Given the description of an element on the screen output the (x, y) to click on. 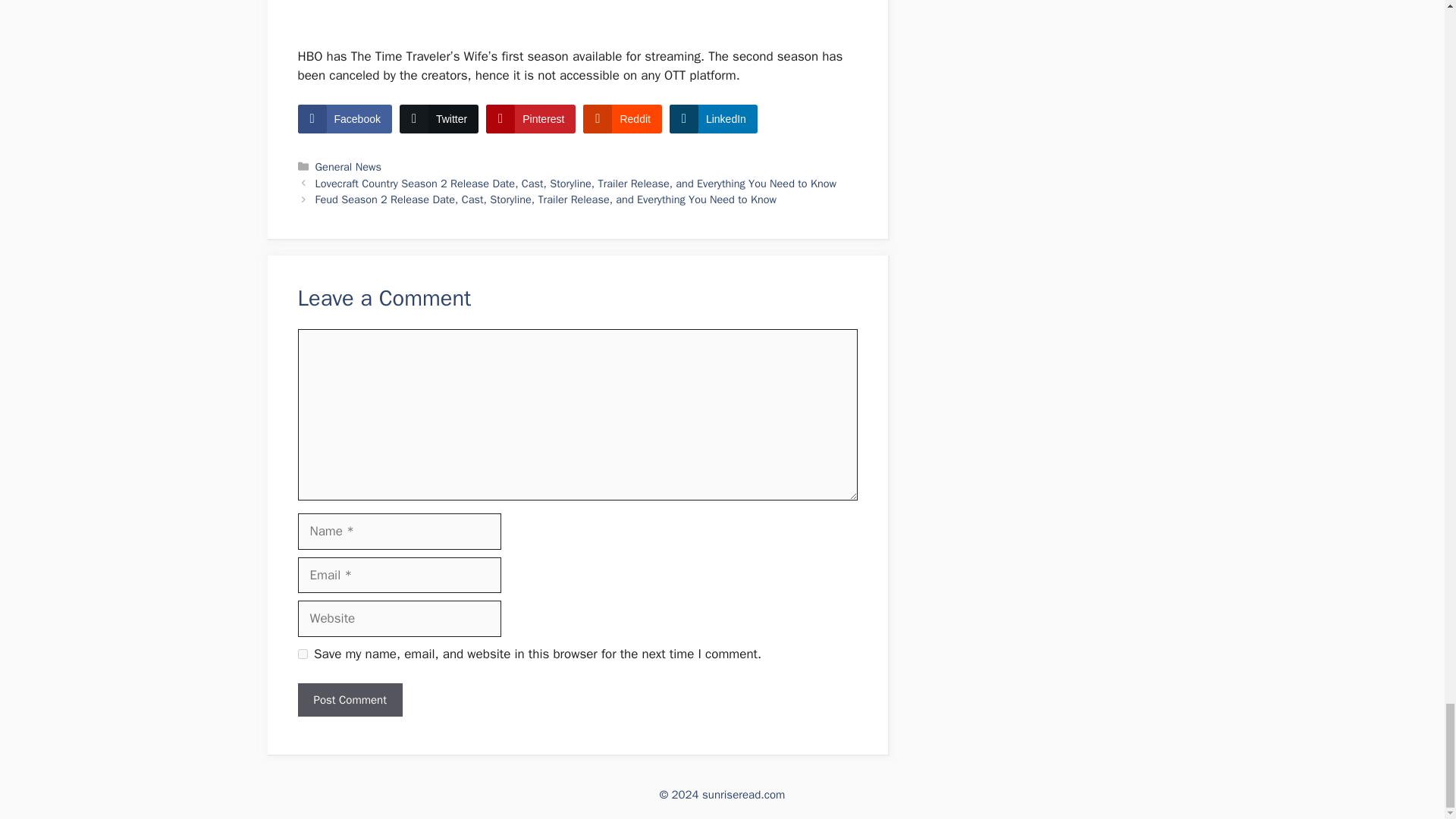
General News (348, 166)
Twitter (438, 118)
Post Comment (349, 700)
yes (302, 654)
LinkedIn (713, 118)
Pinterest (530, 118)
Post Comment (349, 700)
Reddit (622, 118)
